Given the description of an element on the screen output the (x, y) to click on. 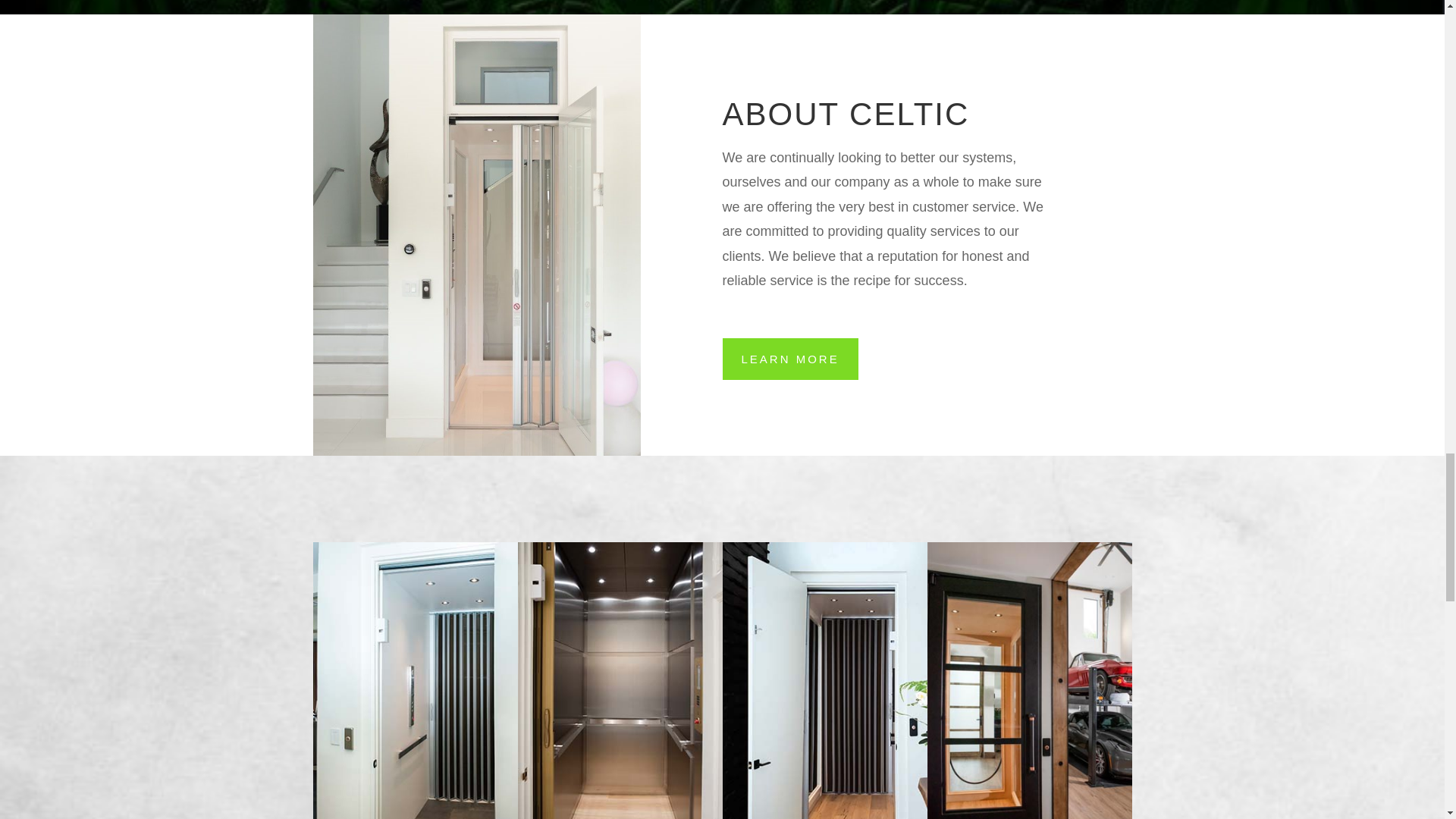
LEARN MORE (789, 359)
